Given the description of an element on the screen output the (x, y) to click on. 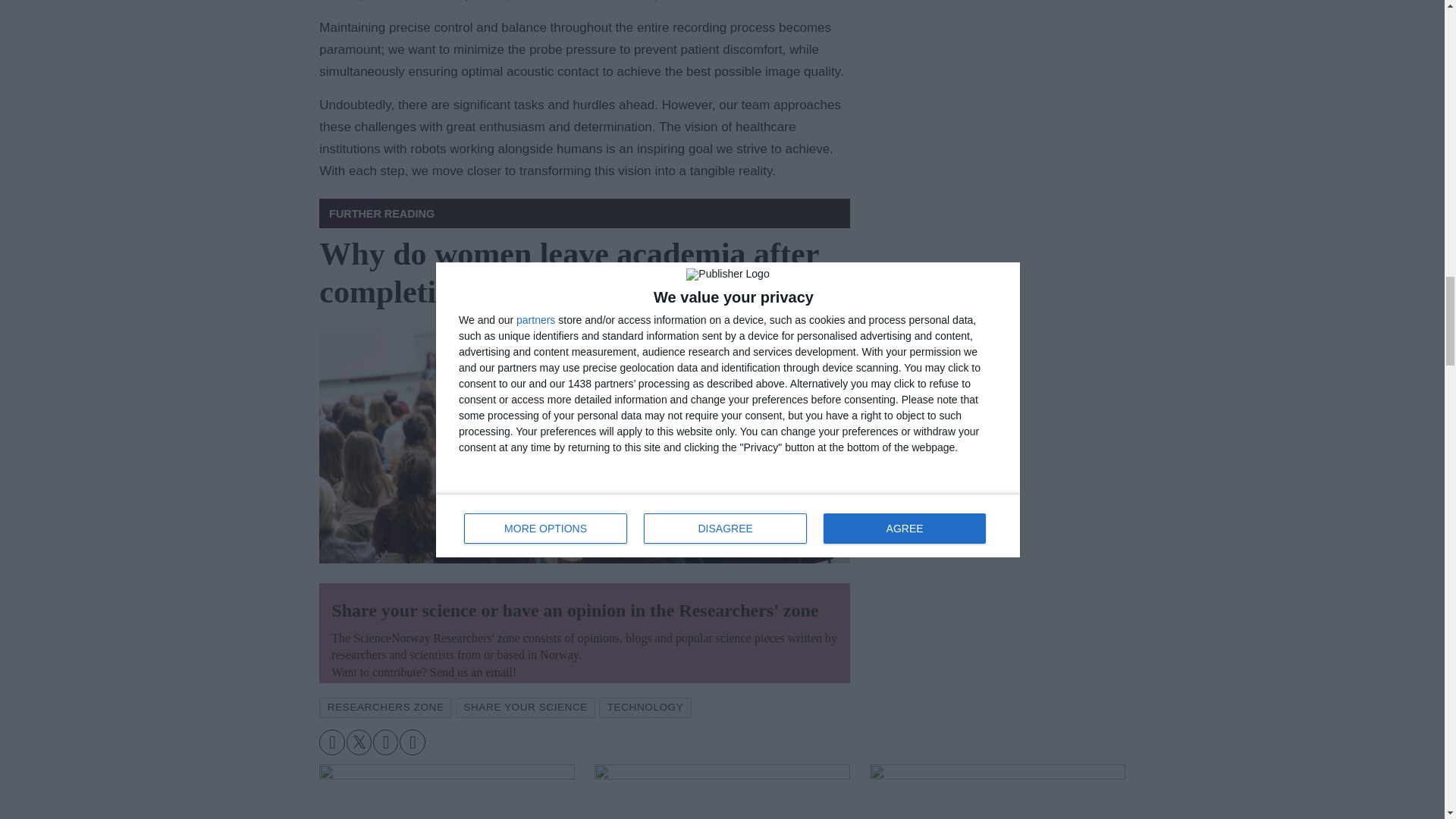
Why do women leave academia after completing a PhD? (584, 443)
How many adolescents are truly satisfied with their lives? (446, 791)
Some wolverines travel great distances during their lifetime (997, 791)
Study links pregnant women's diet to autism risk in children (722, 791)
